Given the description of an element on the screen output the (x, y) to click on. 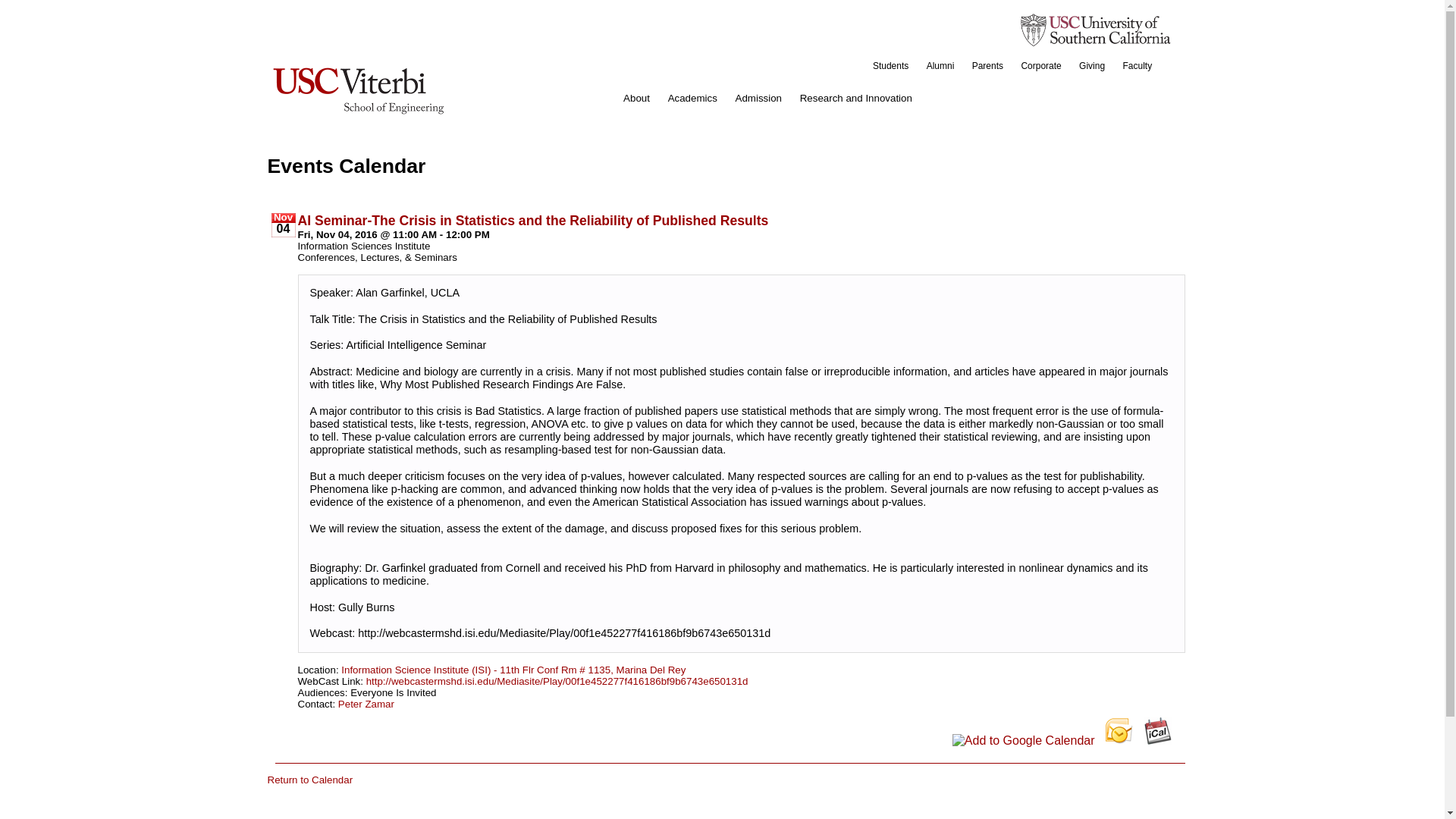
Students (889, 65)
Parents (986, 65)
Viterbi School of Engineering (357, 89)
Peter Zamar (365, 703)
Nov (282, 216)
Research and Innovation (856, 98)
Giving (1091, 65)
Academics (693, 98)
Corporate (1040, 65)
04 (282, 228)
Admission (758, 98)
About (636, 98)
Alumni (940, 65)
Return to Calendar (309, 779)
